Given the description of an element on the screen output the (x, y) to click on. 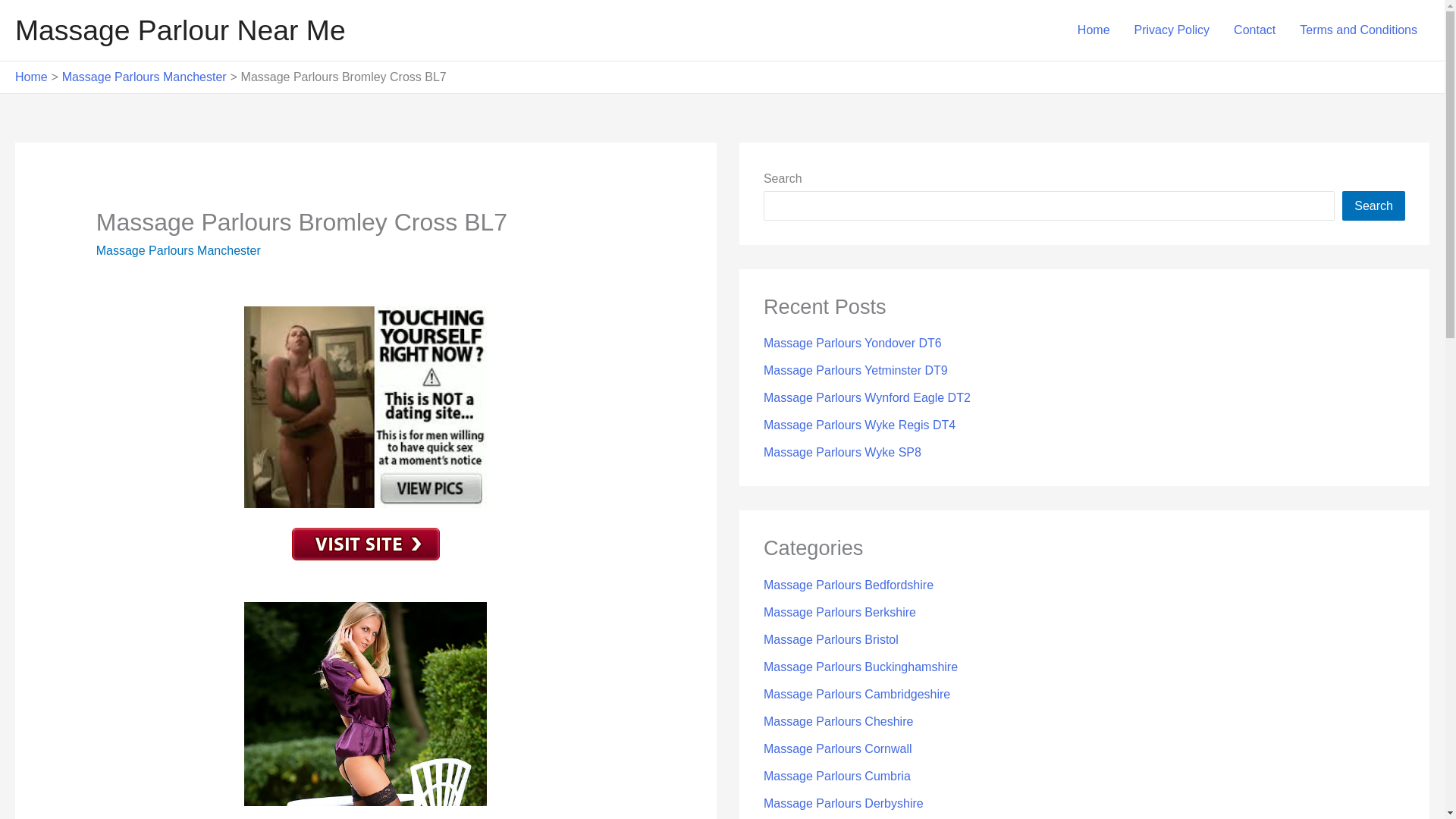
Massage Parlour Near Me (180, 29)
Home (31, 76)
Terms and Conditions (1358, 30)
Massage Parlours Buckinghamshire (860, 666)
Massage Parlours Wyke SP8 (841, 451)
Privacy Policy (1172, 30)
Home (1093, 30)
Massage Parlours Bristol (830, 639)
Massage Parlours Bedfordshire (847, 584)
Search (1373, 205)
